Given the description of an element on the screen output the (x, y) to click on. 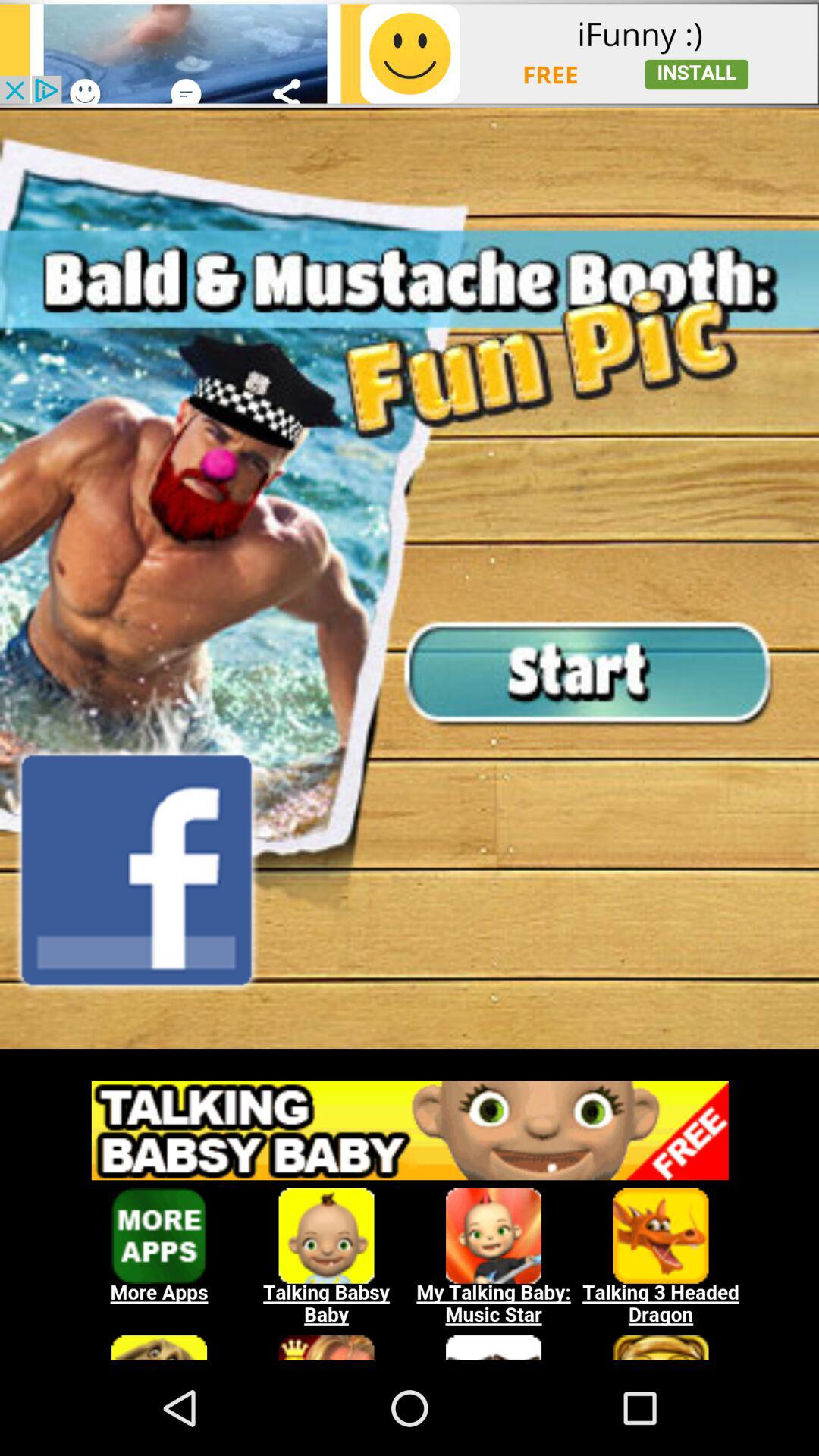
adverdisement page (409, 1056)
